Given the description of an element on the screen output the (x, y) to click on. 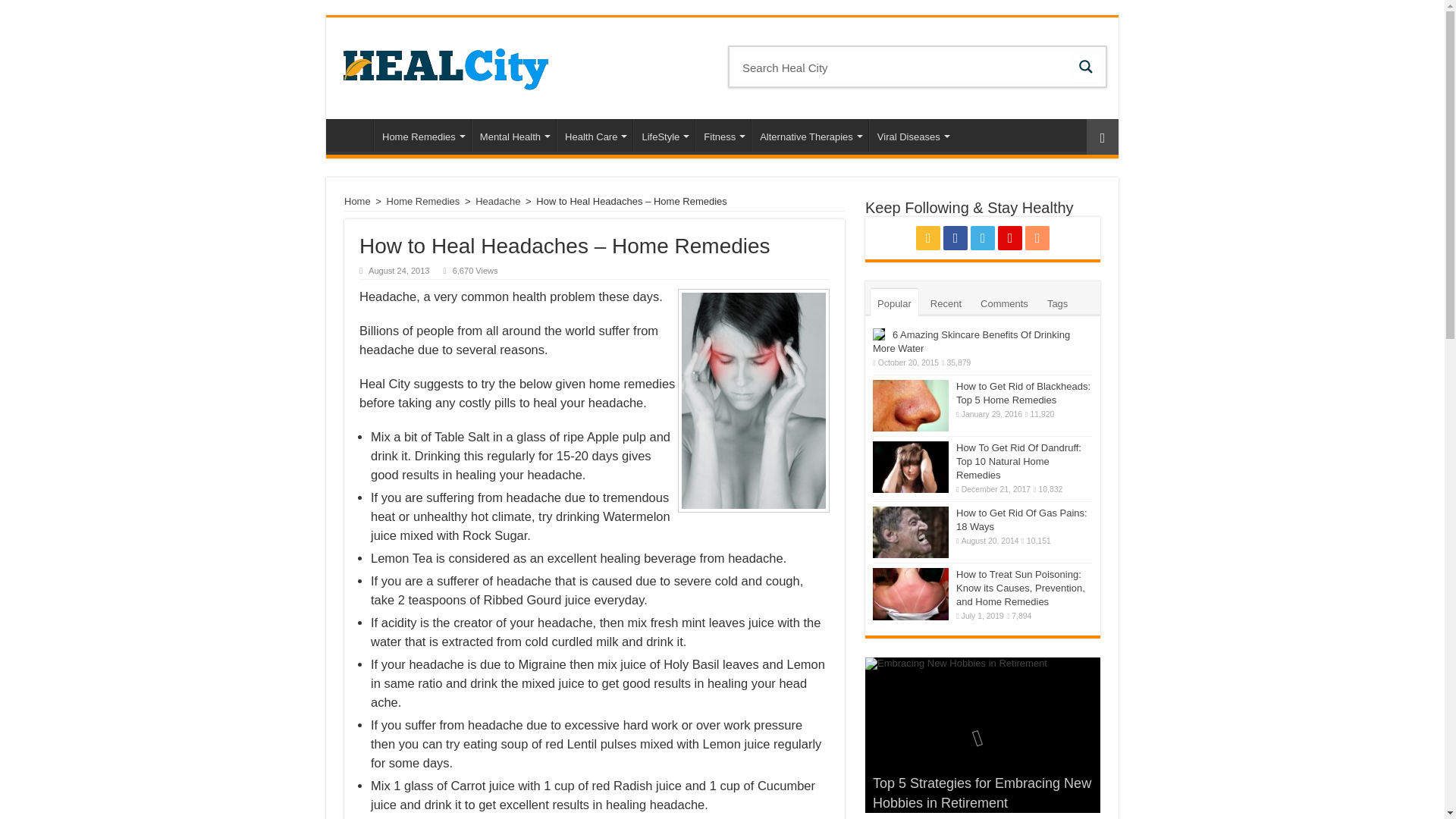
Mental Health (513, 134)
Heal City (444, 64)
Home Remedies (422, 134)
Health Care (593, 134)
Home (352, 134)
